Given the description of an element on the screen output the (x, y) to click on. 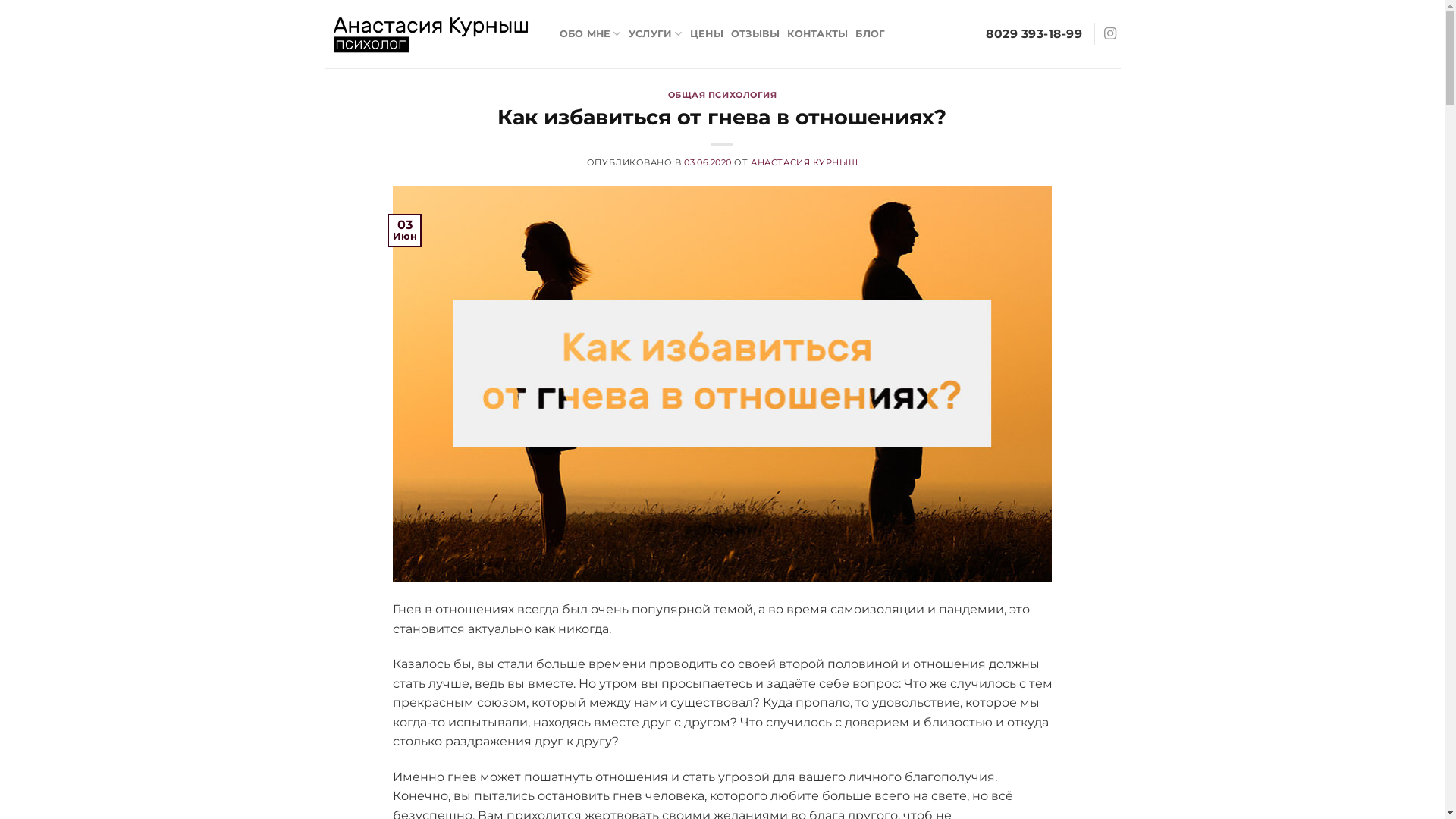
03.06.2020 Element type: text (707, 161)
Skip to content Element type: text (0, 0)
8029 393-18-99 Element type: text (1033, 33)
